Given the description of an element on the screen output the (x, y) to click on. 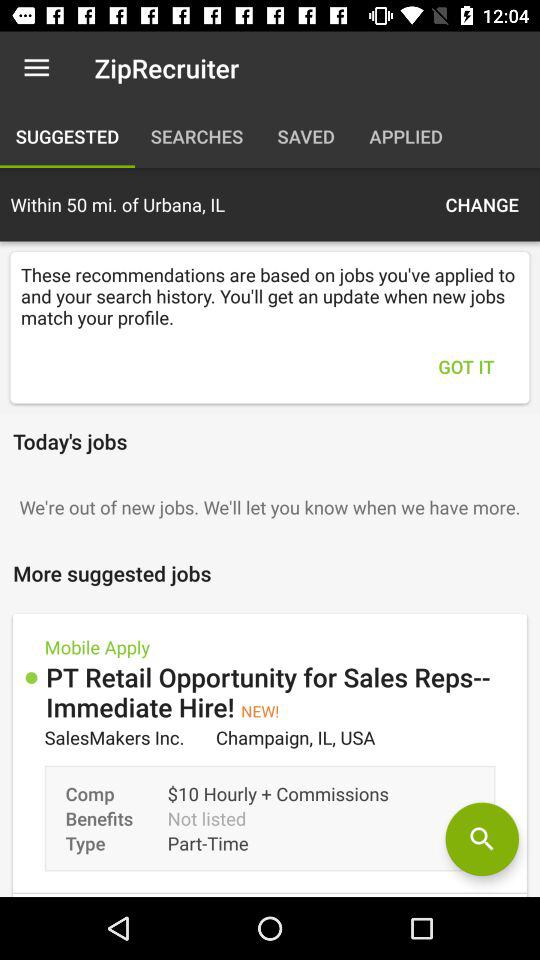
choose the item next to the within 50 mi item (482, 204)
